Given the description of an element on the screen output the (x, y) to click on. 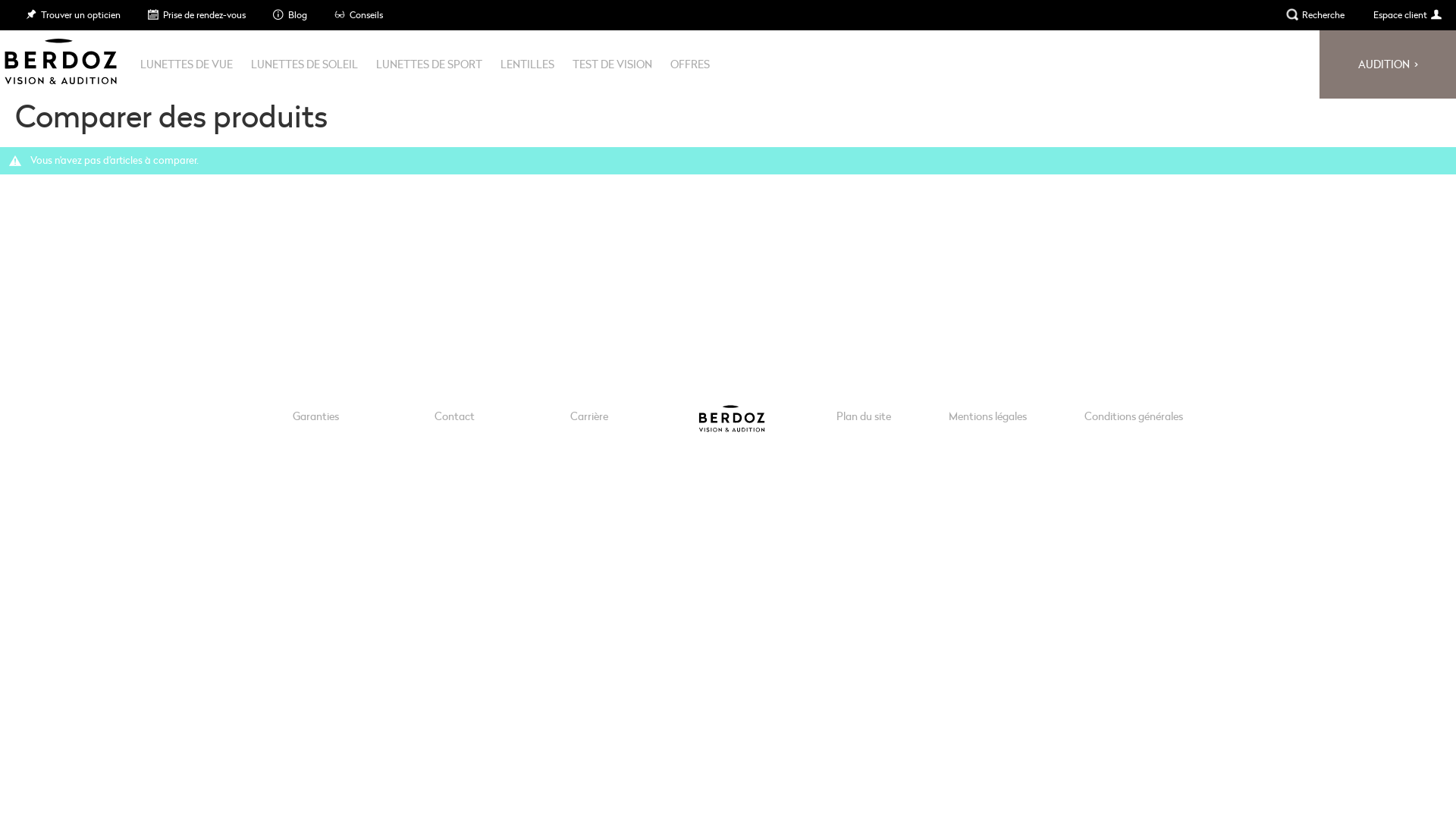
Garanties Element type: text (315, 415)
Prise de rendez-vous Element type: text (196, 14)
Espace client  Element type: text (1406, 14)
LENTILLES Element type: text (527, 64)
LUNETTES DE SPORT Element type: text (429, 64)
Blog Element type: text (289, 14)
Berdoz Optic Element type: hover (56, 56)
Conseils Element type: text (357, 14)
OFFRES Element type: text (689, 64)
Plan du site Element type: text (862, 415)
Trouver un opticien Element type: text (71, 14)
LUNETTES DE SOLEIL Element type: text (304, 64)
LUNETTES DE VUE Element type: text (186, 64)
Recherche Element type: text (1314, 14)
Contact Element type: text (453, 415)
TEST DE VISION Element type: text (612, 64)
